Given the description of an element on the screen output the (x, y) to click on. 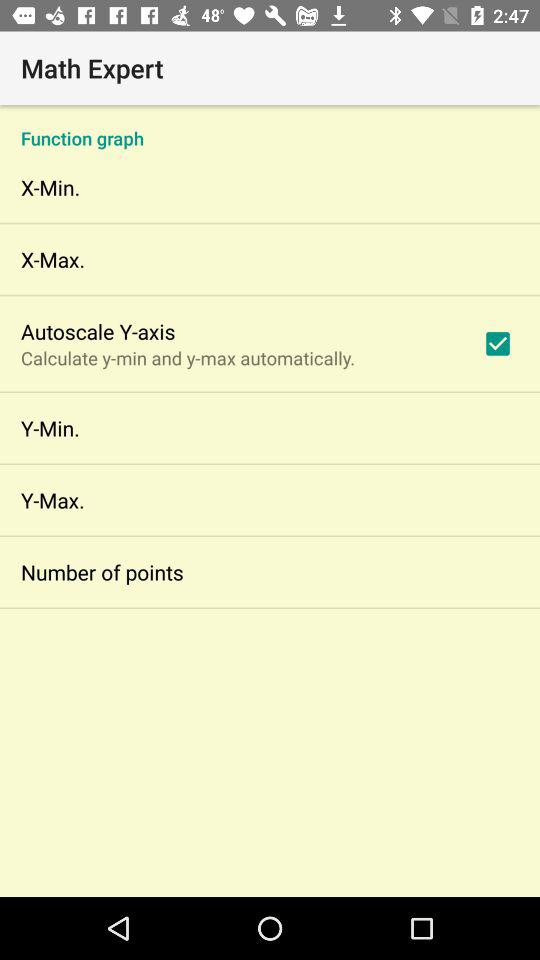
scroll until the function graph app (270, 127)
